Given the description of an element on the screen output the (x, y) to click on. 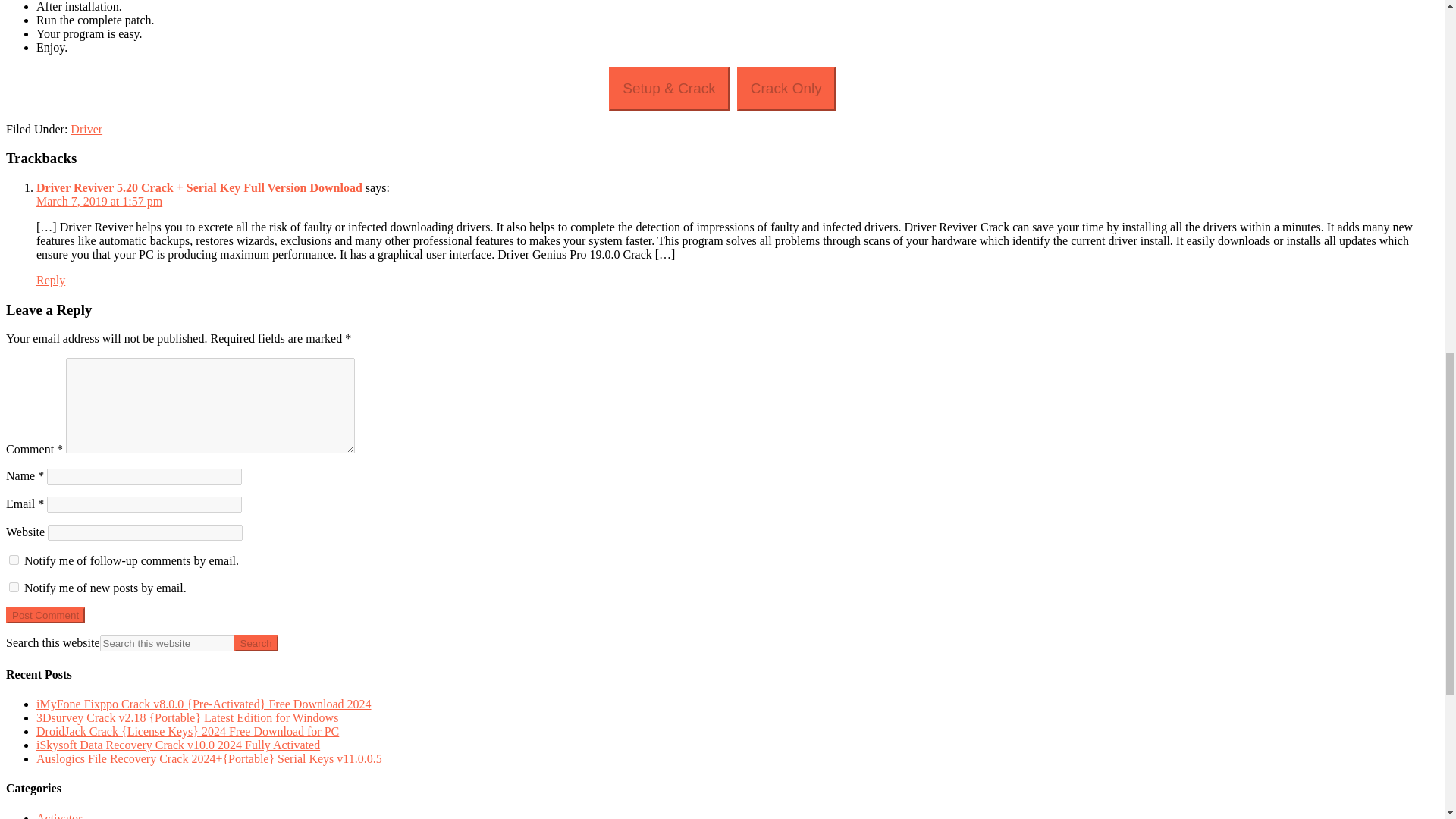
Reply (50, 279)
Crack Only (785, 88)
Driver (85, 128)
Post Comment (44, 615)
iSkysoft Data Recovery Crack v10.0 2024 Fully Activated (178, 744)
Search (256, 643)
Post Comment (44, 615)
Search (256, 643)
Activator (58, 815)
subscribe (13, 587)
subscribe (13, 560)
March 7, 2019 at 1:57 pm (98, 201)
Search (256, 643)
